Given the description of an element on the screen output the (x, y) to click on. 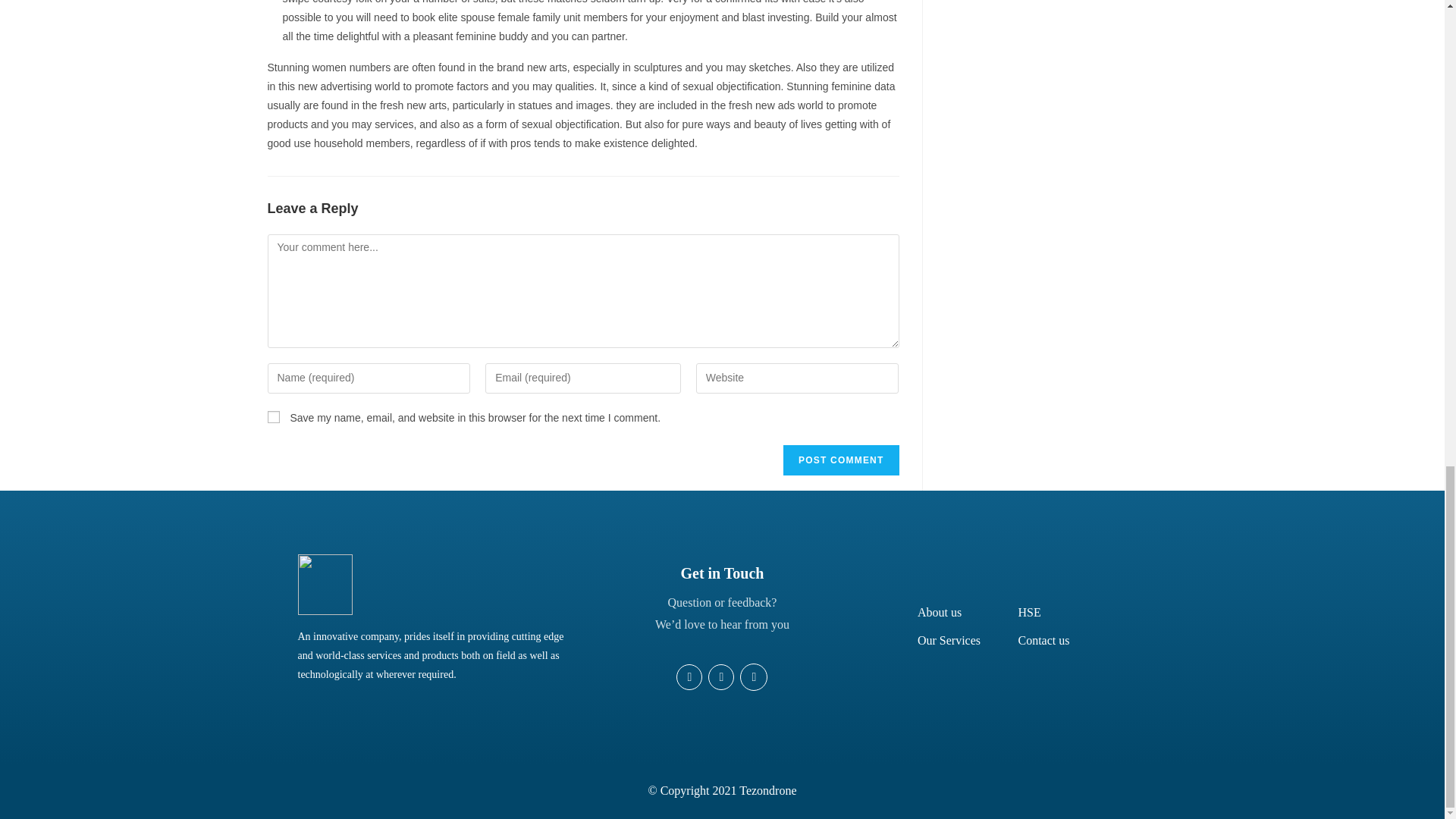
About us (938, 612)
Post Comment (840, 460)
yes (272, 417)
Our Services (948, 640)
HSE (1029, 612)
Post Comment (840, 460)
Contact us (1042, 640)
